Given the description of an element on the screen output the (x, y) to click on. 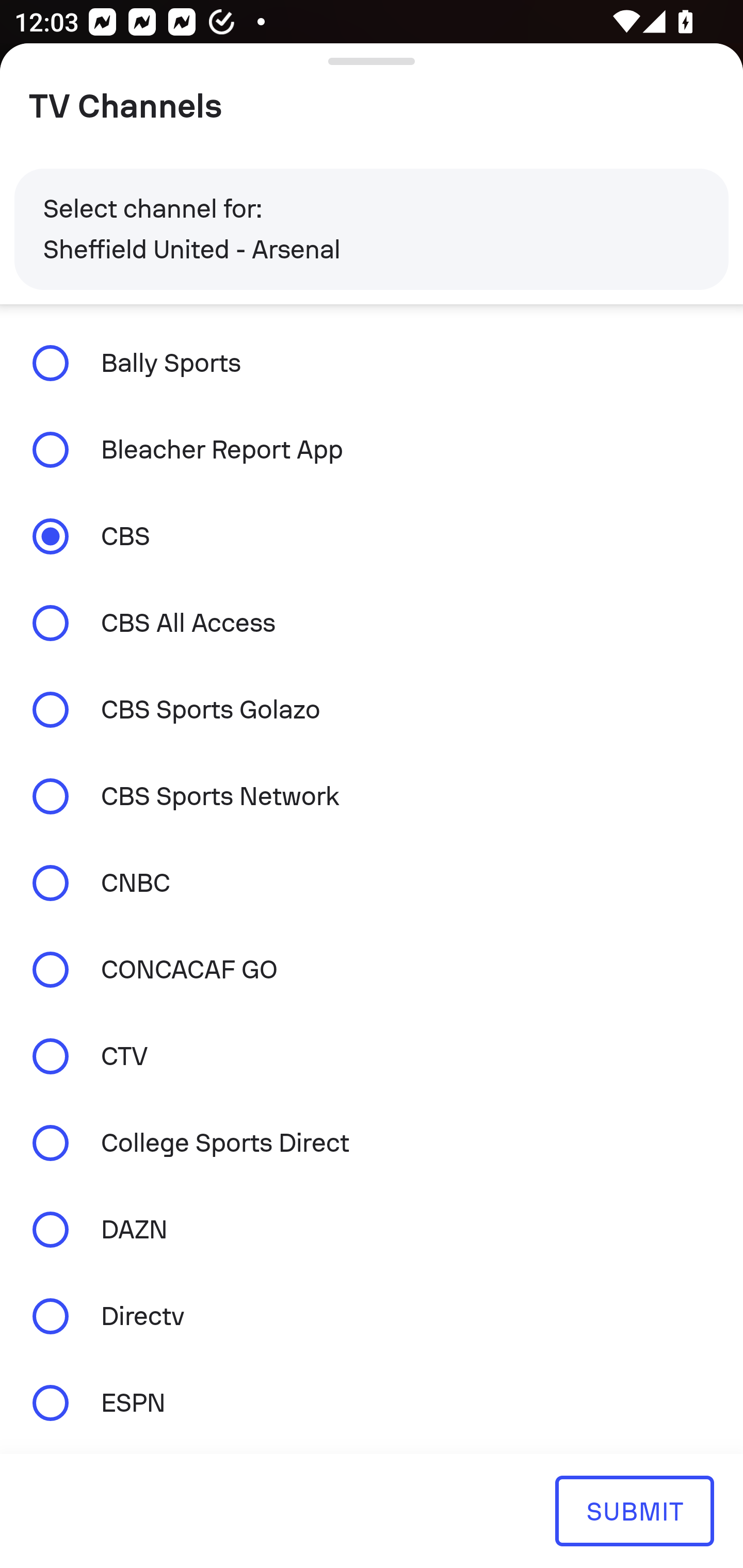
Bally Sports (371, 362)
Bleacher Report App (371, 449)
CBS (371, 536)
CBS All Access (371, 623)
CBS Sports Golazo (371, 709)
CBS Sports Network (371, 796)
CNBC (371, 883)
CONCACAF GO (371, 969)
CTV (371, 1055)
College Sports Direct (371, 1142)
DAZN (371, 1229)
Directv (371, 1316)
ESPN (371, 1402)
SUBMIT (634, 1510)
